Given the description of an element on the screen output the (x, y) to click on. 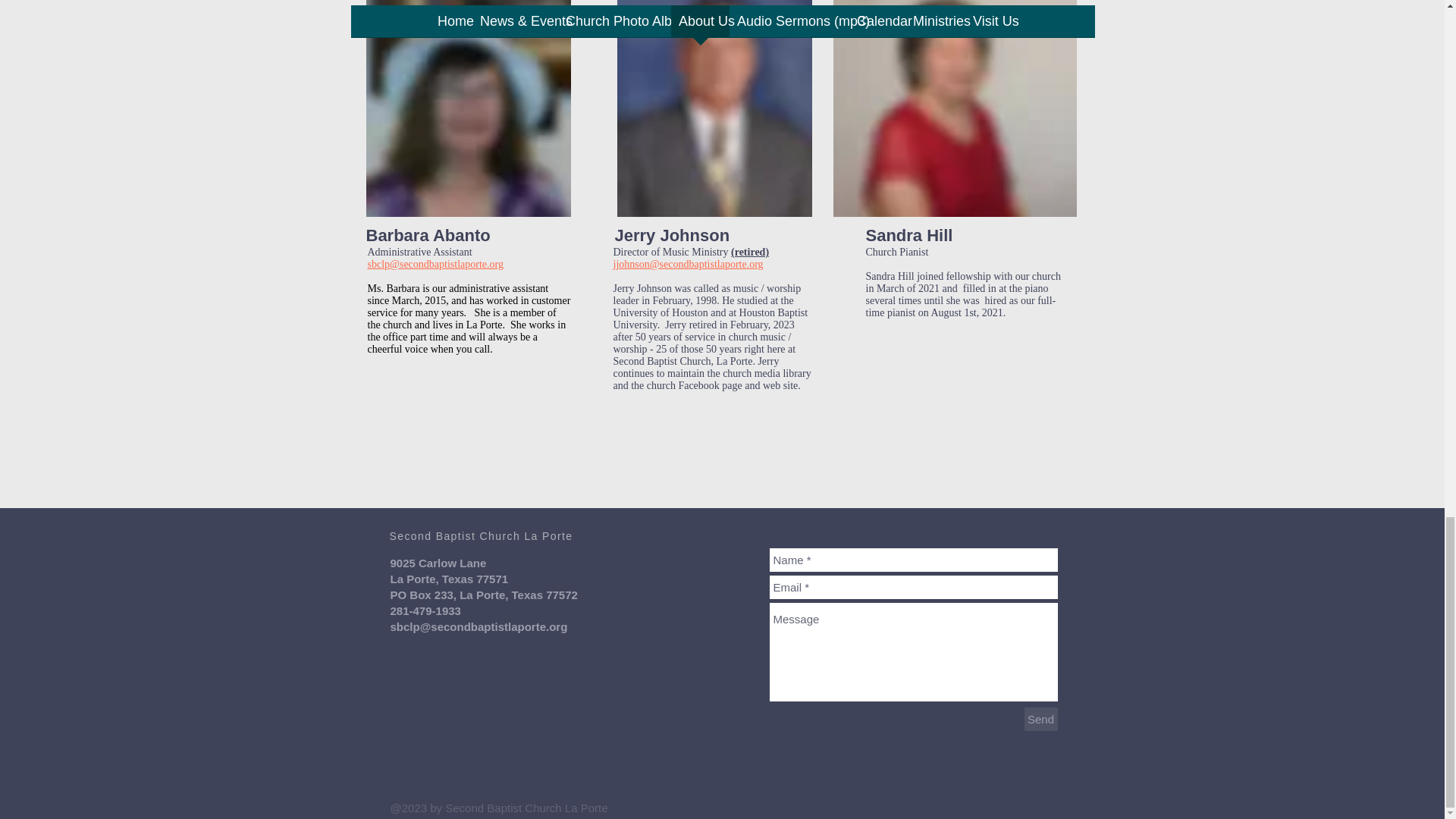
Send (1040, 719)
